Given the description of an element on the screen output the (x, y) to click on. 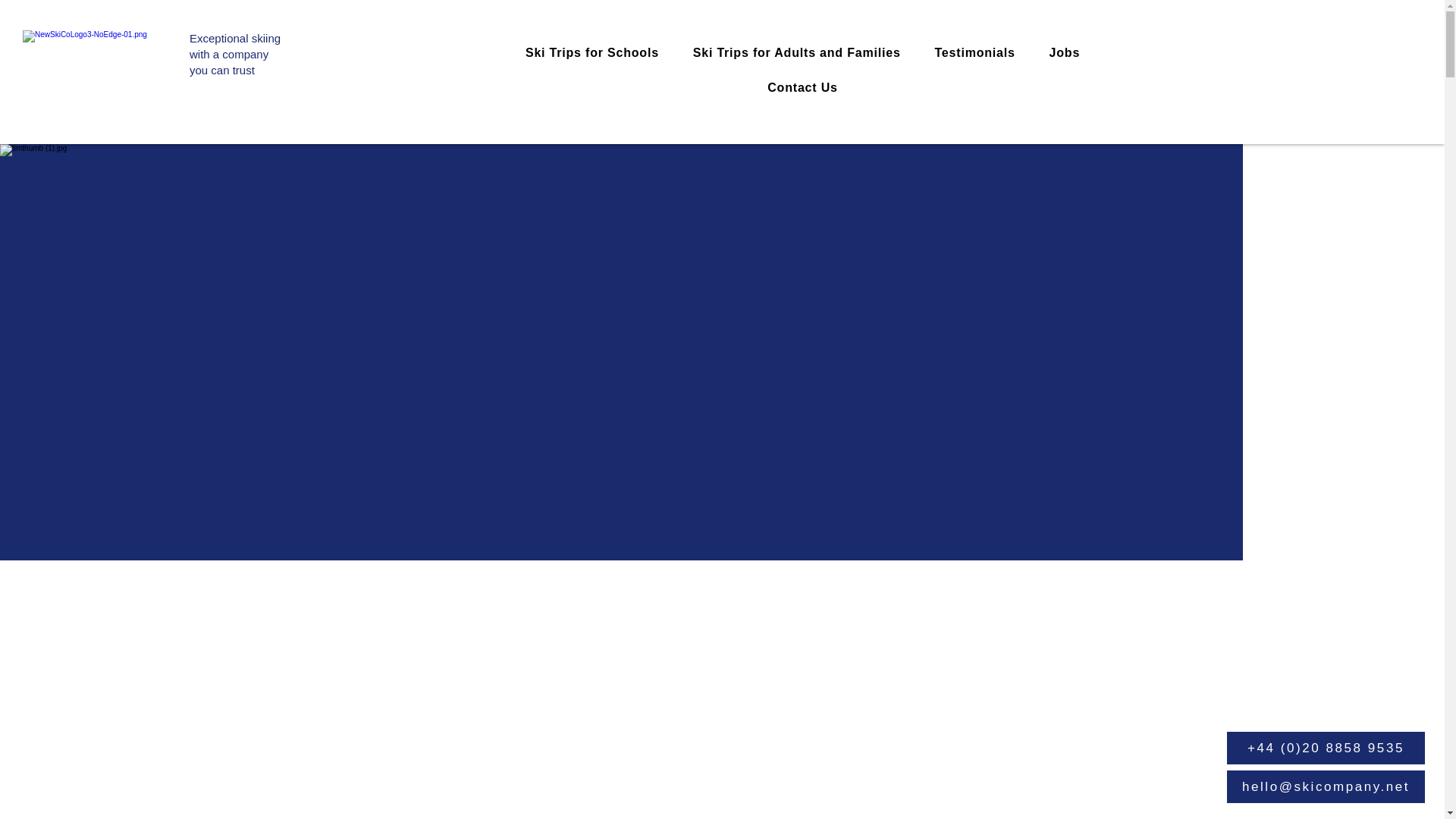
Ski Trips for Schools (235, 53)
Ski Trips for Adults and Families (591, 52)
Contact Us (796, 52)
Jobs (802, 87)
Testimonials (1064, 52)
